Given the description of an element on the screen output the (x, y) to click on. 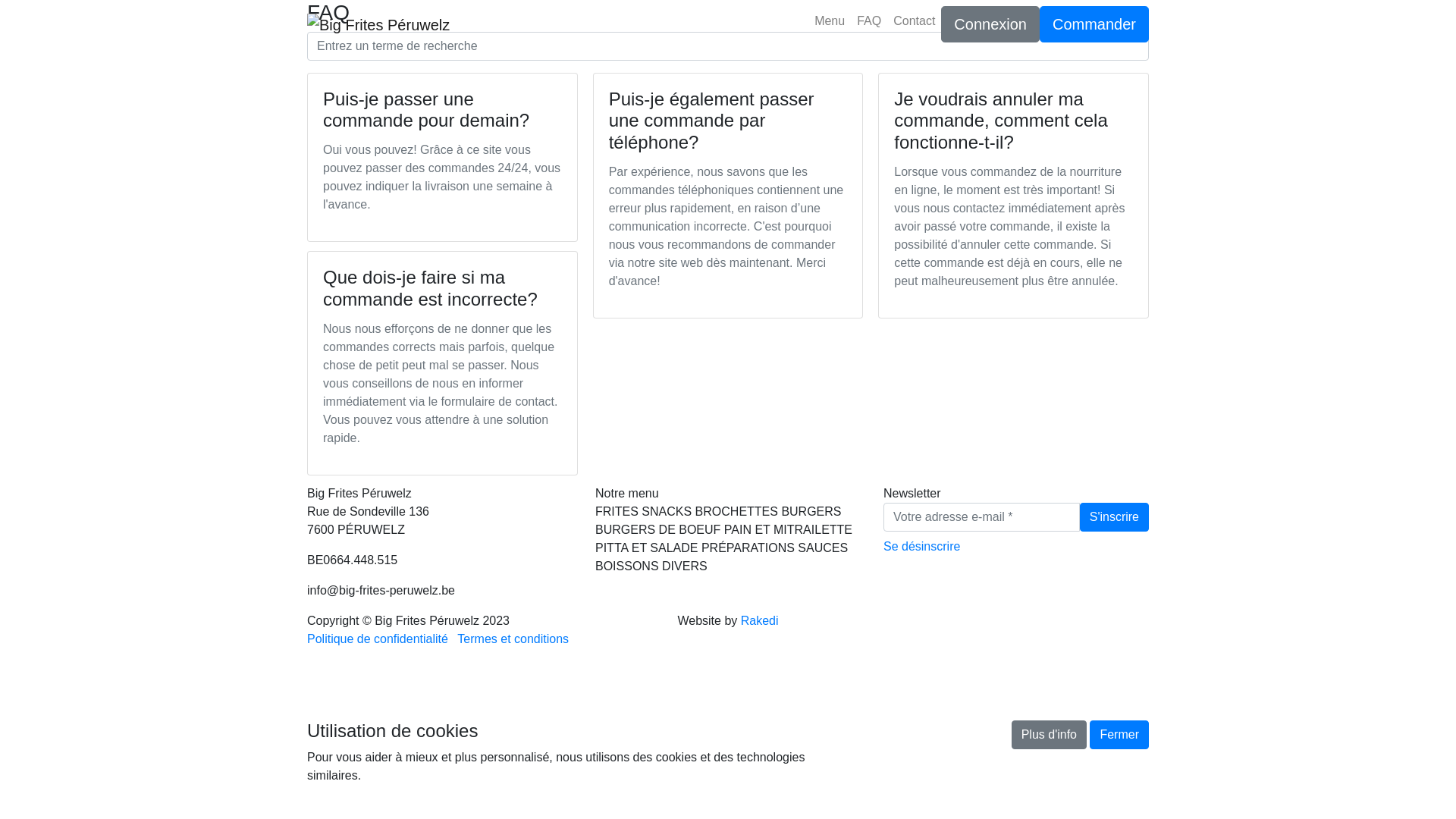
Plus d'info Element type: text (1048, 734)
Rakedi Element type: text (759, 620)
S'inscrire Element type: text (1113, 516)
Entrez un terme de recherche Element type: hover (727, 45)
Menu Element type: text (829, 21)
Commander Element type: text (1093, 24)
Termes et conditions Element type: text (512, 638)
FAQ Element type: text (868, 21)
Contact Element type: text (914, 21)
Connexion Element type: text (990, 24)
Fermer Element type: text (1118, 734)
Entrez votre adresse e-mail Element type: hover (981, 516)
